Given the description of an element on the screen output the (x, y) to click on. 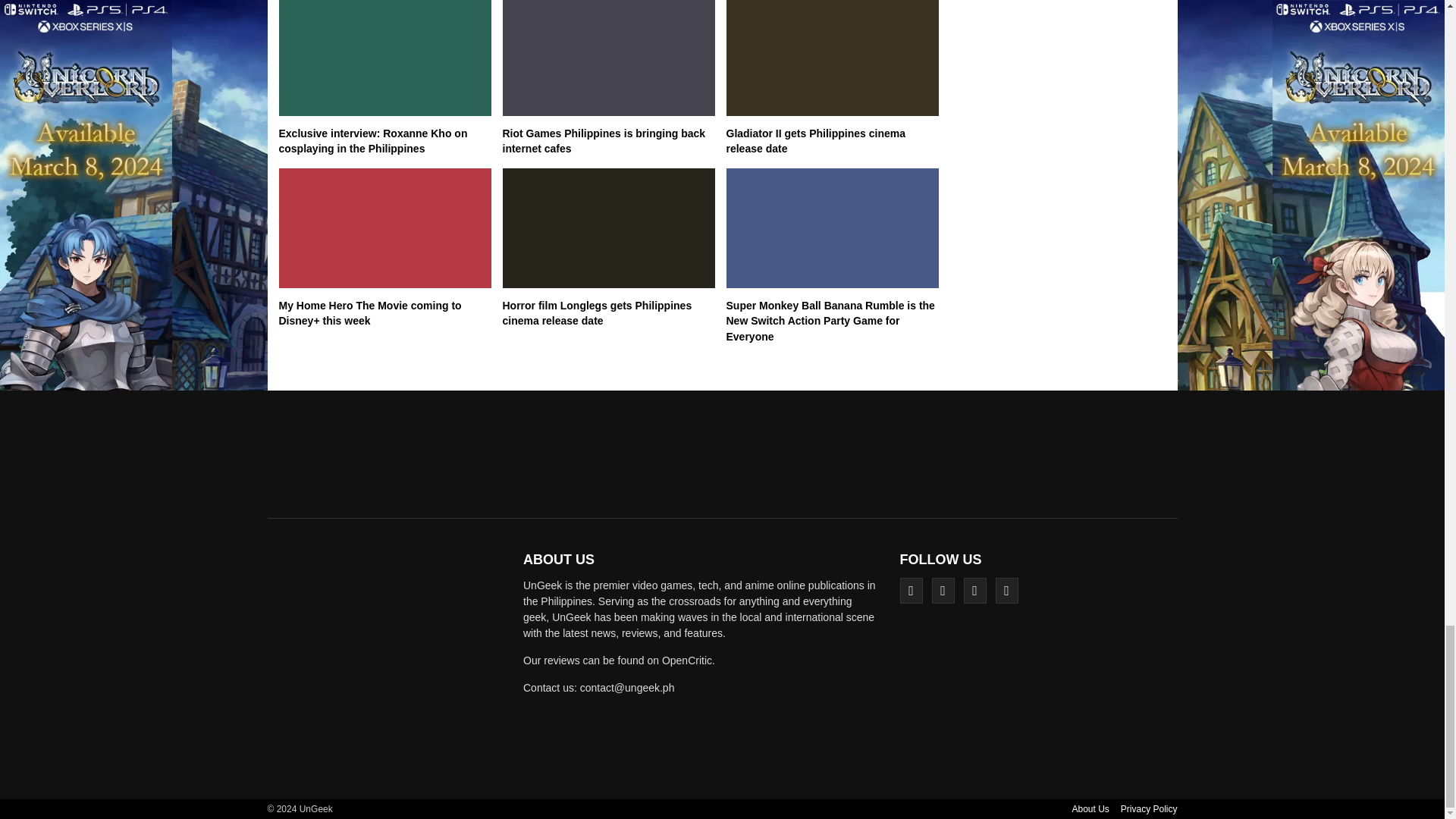
Horror film Longlegs gets Philippines cinema release date (596, 313)
UnGeek (389, 663)
Riot Games Philippines is bringing back internet cafes (603, 141)
Gladiator II gets Philippines cinema release date (815, 141)
